Given the description of an element on the screen output the (x, y) to click on. 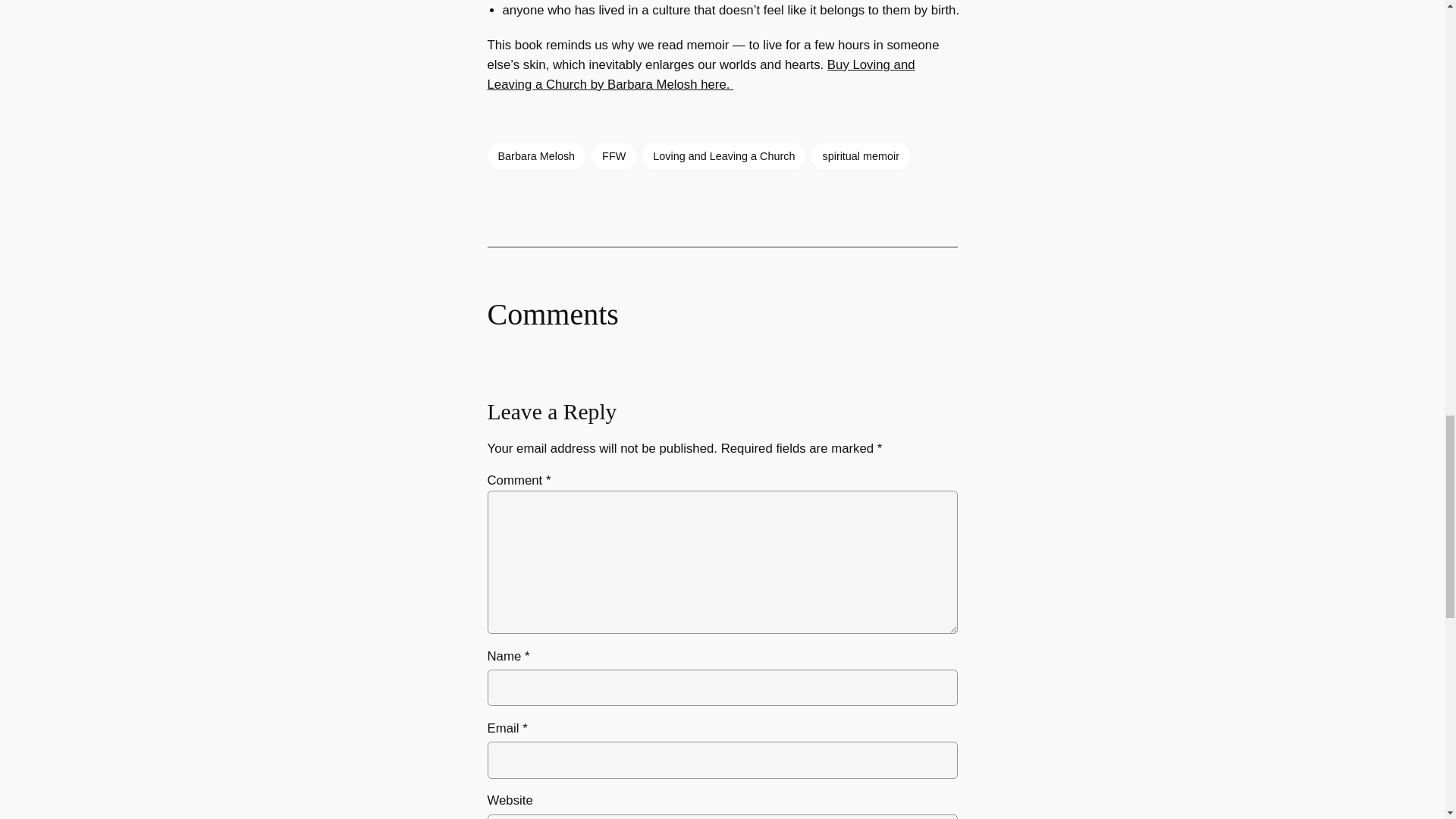
Loving and Leaving a Church (723, 155)
FFW (613, 155)
Barbara Melosh (535, 155)
Buy Loving and Leaving a Church by Barbara Melosh here.  (700, 74)
spiritual memoir (860, 155)
